Given the description of an element on the screen output the (x, y) to click on. 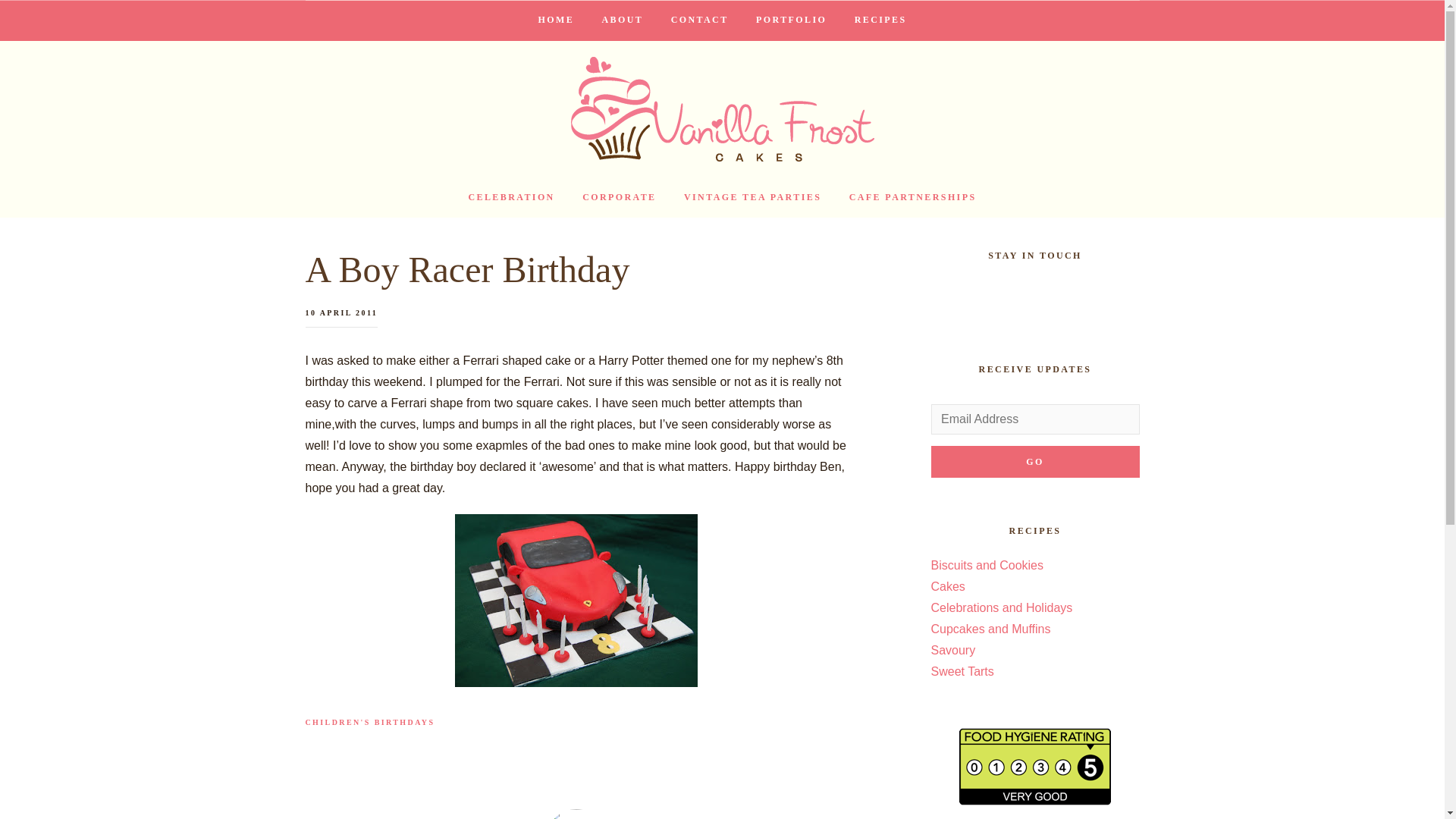
VINTAGE TEA PARTIES (751, 197)
PORTFOLIO (791, 20)
ABOUT (622, 20)
CONTACT (700, 20)
Vanilla Frost Cakes (721, 109)
Go (1035, 461)
Go (1035, 461)
HOME (555, 20)
CAFE PARTNERSHIPS (912, 197)
CHILDREN'S BIRTHDAYS (368, 722)
CELEBRATION (510, 197)
CORPORATE (619, 197)
RECIPES (880, 20)
